Given the description of an element on the screen output the (x, y) to click on. 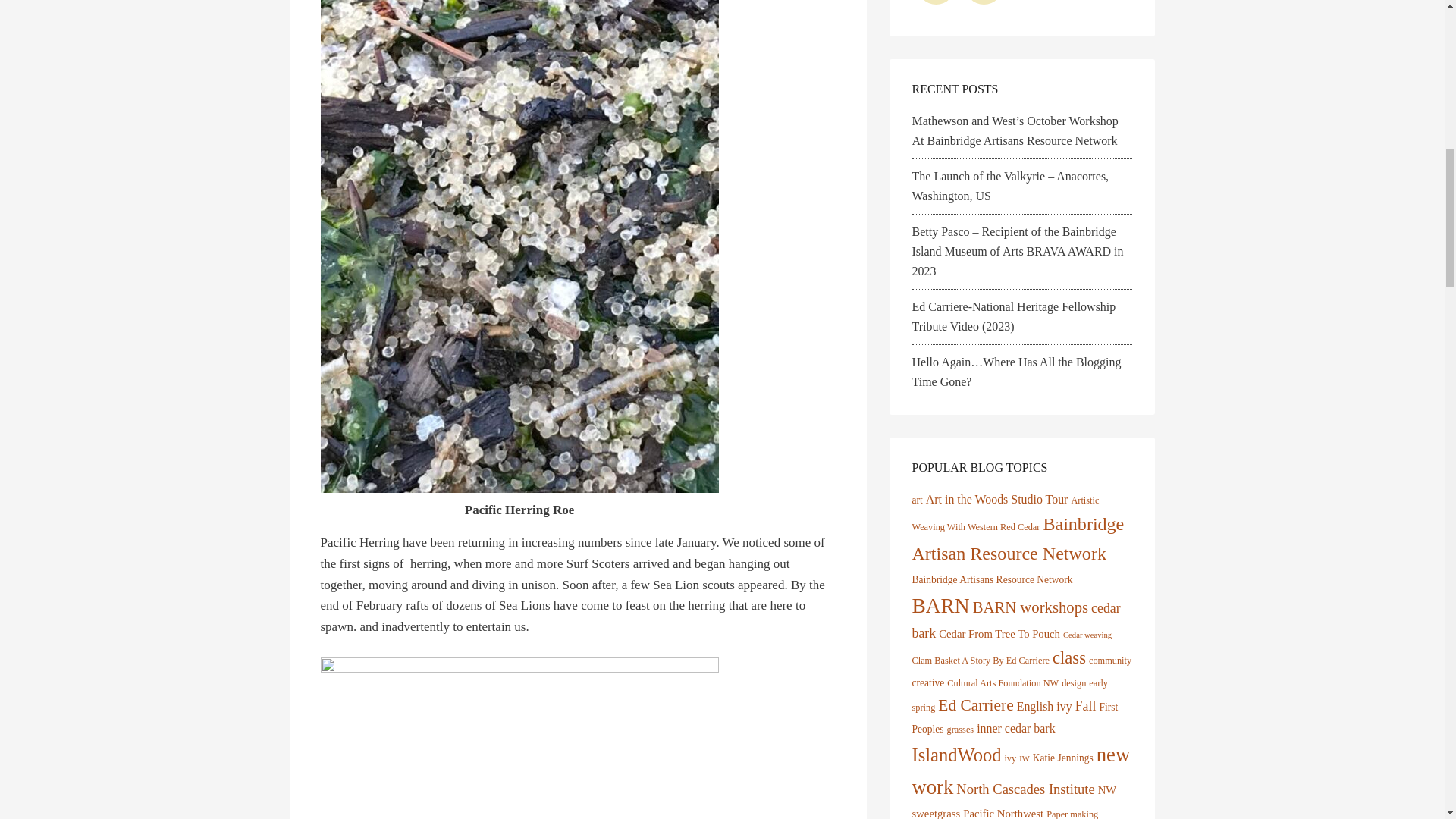
Bainbridge Artisans Resource Network (991, 578)
Artistic Weaving With Western Red Cedar (1005, 513)
art (916, 500)
Art in the Woods Studio Tour (997, 499)
BARN workshops (1029, 606)
Bainbridge Artisan Resource Network (1017, 538)
BARN (940, 605)
